Given the description of an element on the screen output the (x, y) to click on. 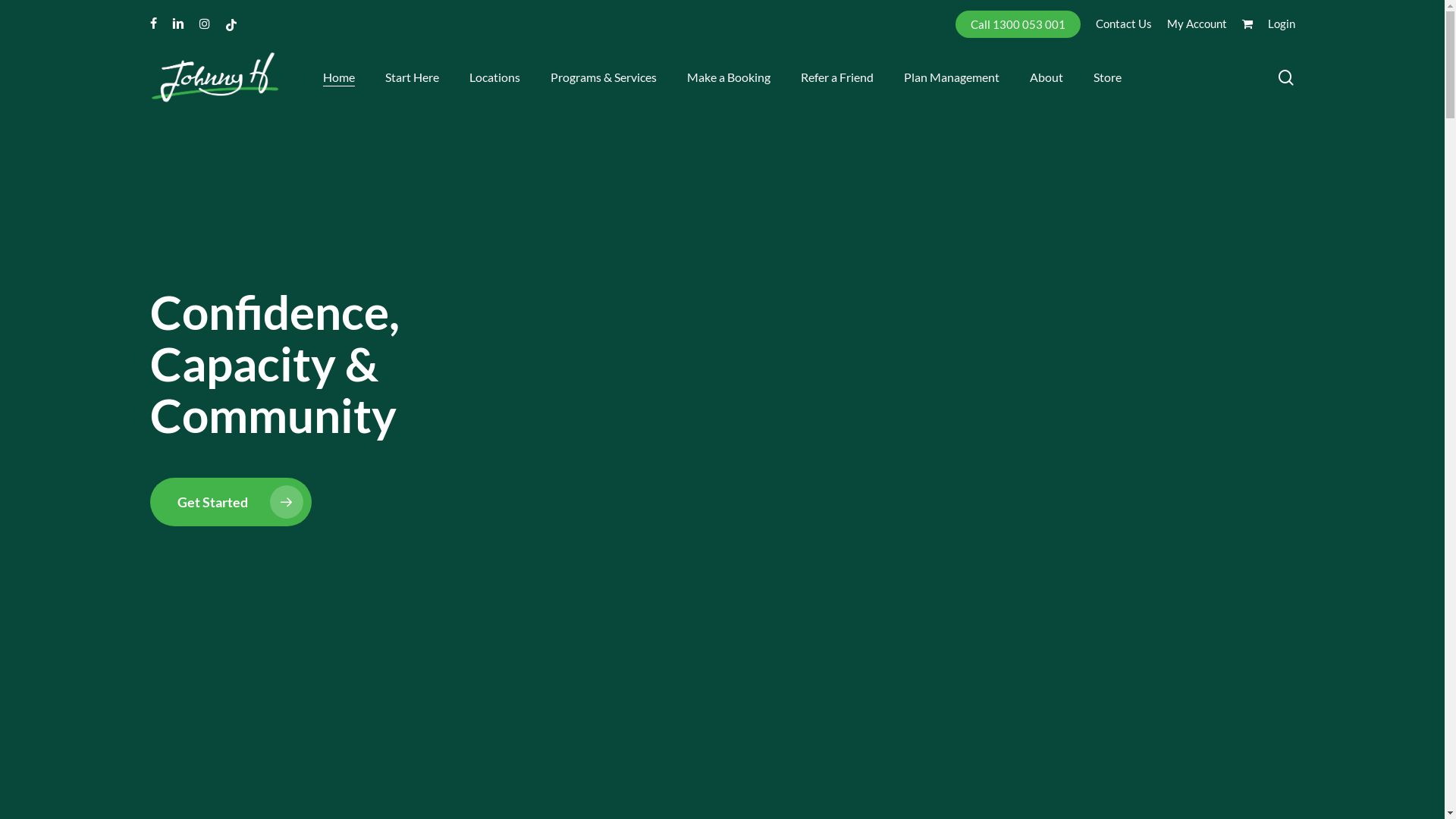
Refer a Friend Element type: text (836, 77)
facebook Element type: text (153, 23)
About Element type: text (1046, 77)
Programs & Services Element type: text (603, 77)
linkedin Element type: text (177, 23)
Locations Element type: text (494, 77)
tiktok Element type: text (230, 23)
instagram Element type: text (203, 23)
Make a Booking Element type: text (728, 77)
My Account Element type: text (1196, 23)
Start Here Element type: text (412, 77)
Login Element type: text (1281, 23)
Call 1300 053 001 Element type: text (1017, 23)
search Element type: text (1286, 77)
Get Started Element type: text (230, 501)
Store Element type: text (1107, 77)
Contact Us Element type: text (1123, 23)
Home Element type: text (338, 77)
Plan Management Element type: text (951, 77)
